Given the description of an element on the screen output the (x, y) to click on. 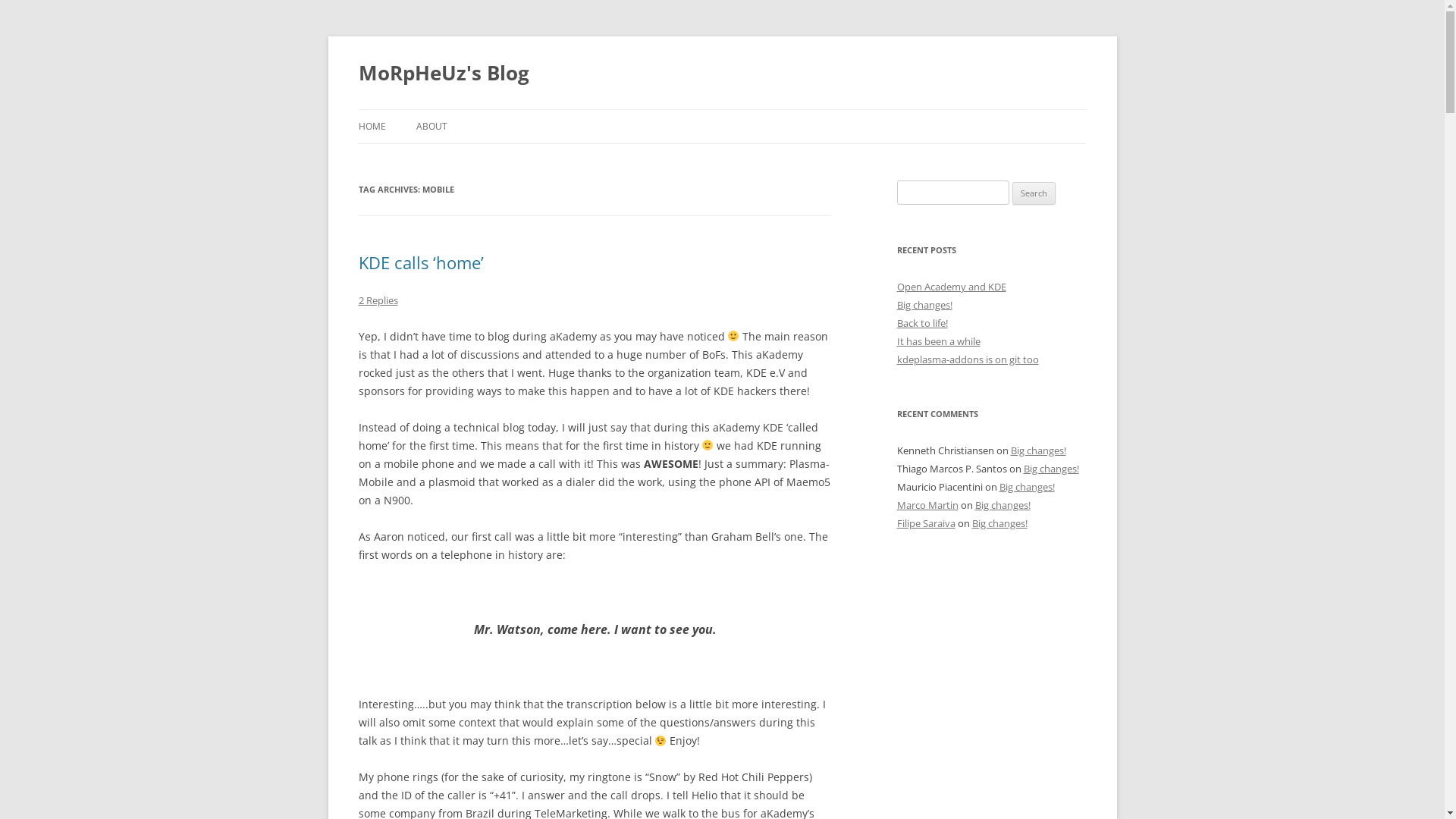
2 Replies Element type: text (377, 300)
Big changes! Element type: text (1026, 486)
Back to life! Element type: text (921, 322)
HOME Element type: text (371, 126)
Big changes! Element type: text (999, 523)
Big changes! Element type: text (923, 304)
Search Element type: text (1033, 193)
Open Academy and KDE Element type: text (950, 286)
kdeplasma-addons is on git too Element type: text (967, 359)
ABOUT Element type: text (430, 126)
Filipe Saraiva Element type: text (925, 523)
Big changes! Element type: text (1037, 450)
Marco Martin Element type: text (926, 504)
It has been a while Element type: text (937, 341)
MoRpHeUz's Blog Element type: text (442, 72)
Big changes! Element type: text (1002, 504)
Big changes! Element type: text (1051, 468)
Skip to content Element type: text (721, 109)
